Given the description of an element on the screen output the (x, y) to click on. 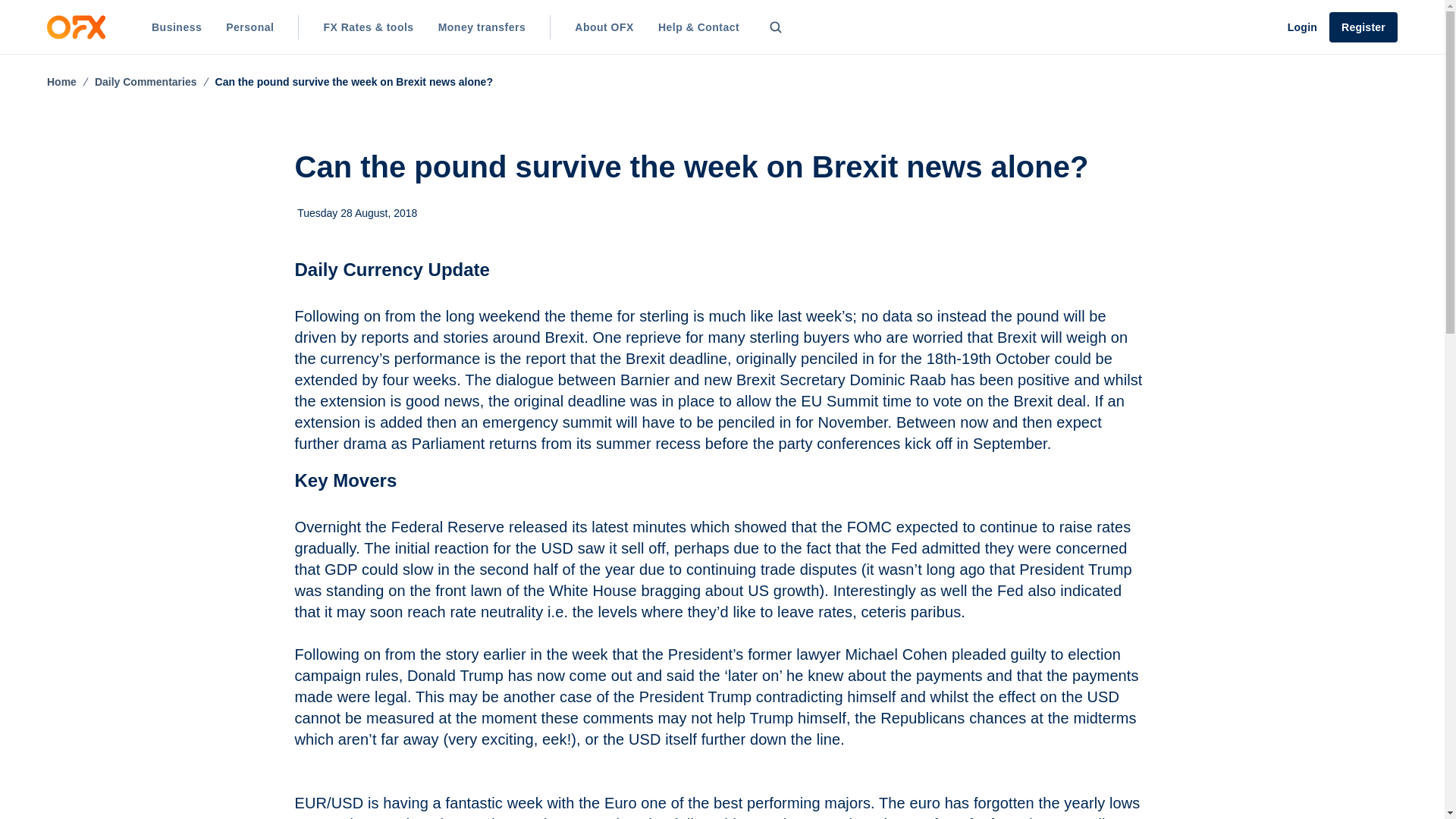
Personal (249, 27)
Business (176, 27)
